Given the description of an element on the screen output the (x, y) to click on. 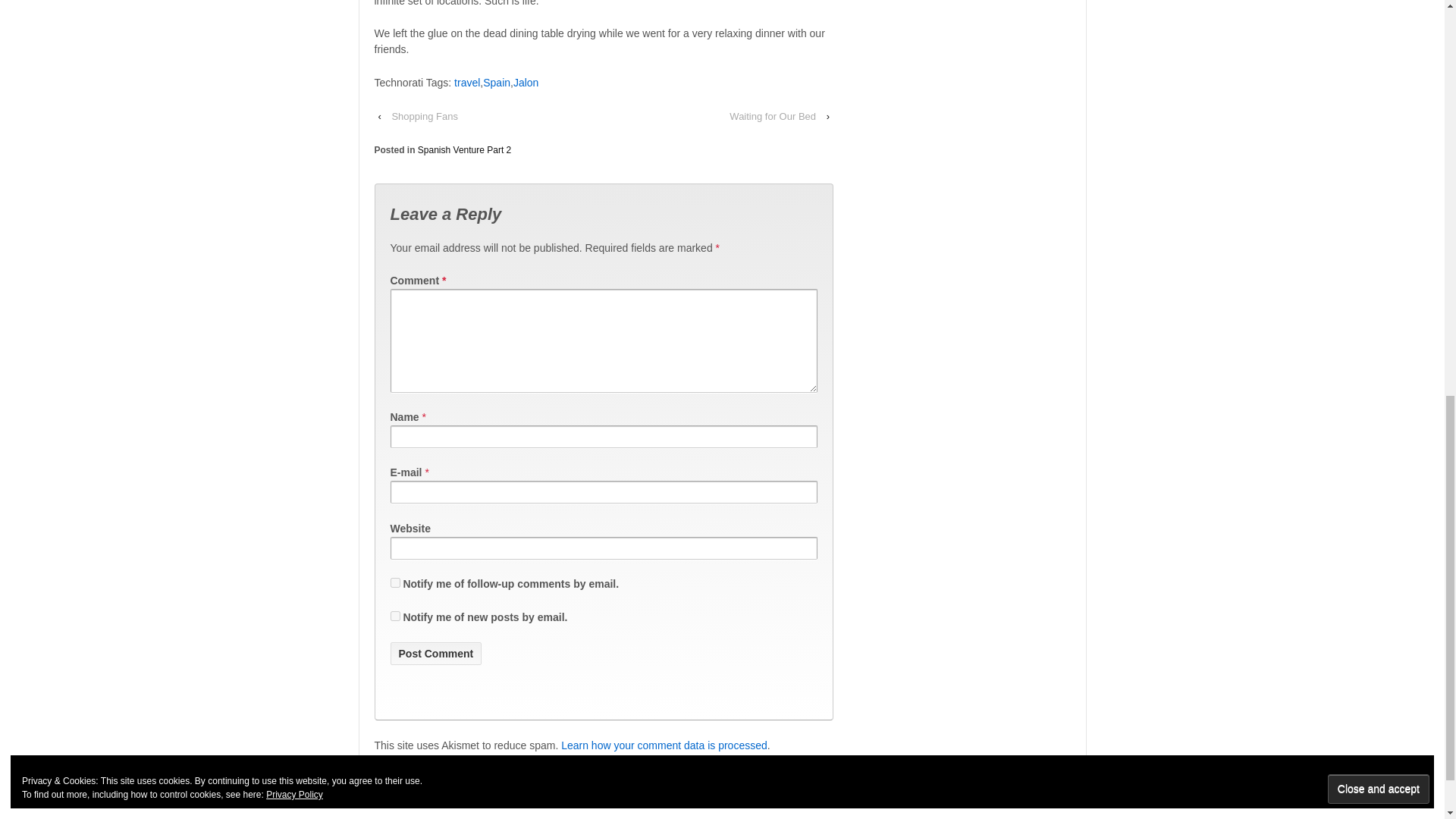
Learn how your comment data is processed (663, 745)
Shopping Fans (424, 116)
subscribe (394, 615)
subscribe (394, 583)
Jalon (525, 82)
Waiting for Our Bed (773, 116)
Spain (497, 82)
Post Comment (435, 653)
Post Comment (435, 653)
travel (467, 82)
